Given the description of an element on the screen output the (x, y) to click on. 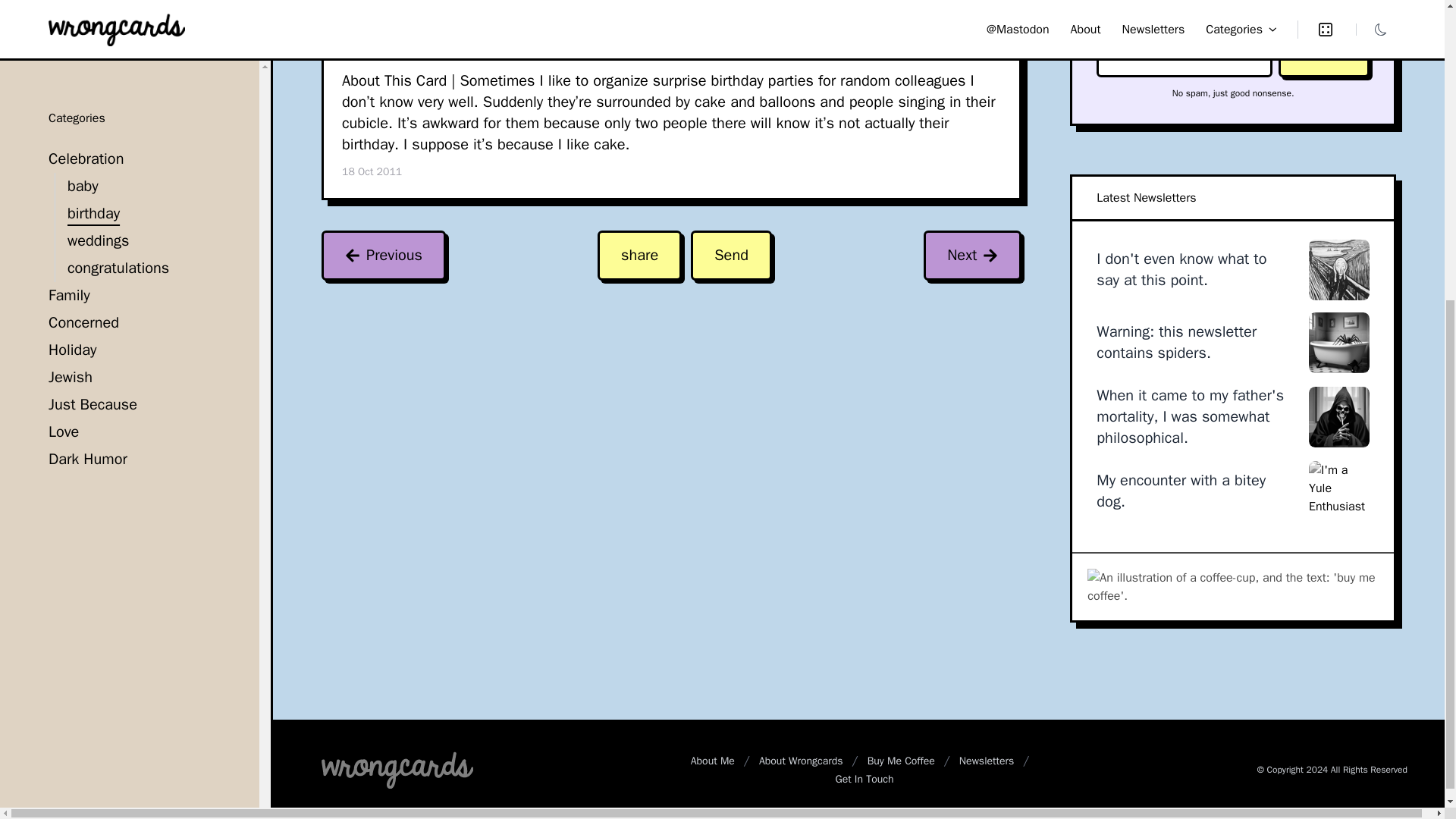
It would be hugely appreciated. (1232, 585)
